Given the description of an element on the screen output the (x, y) to click on. 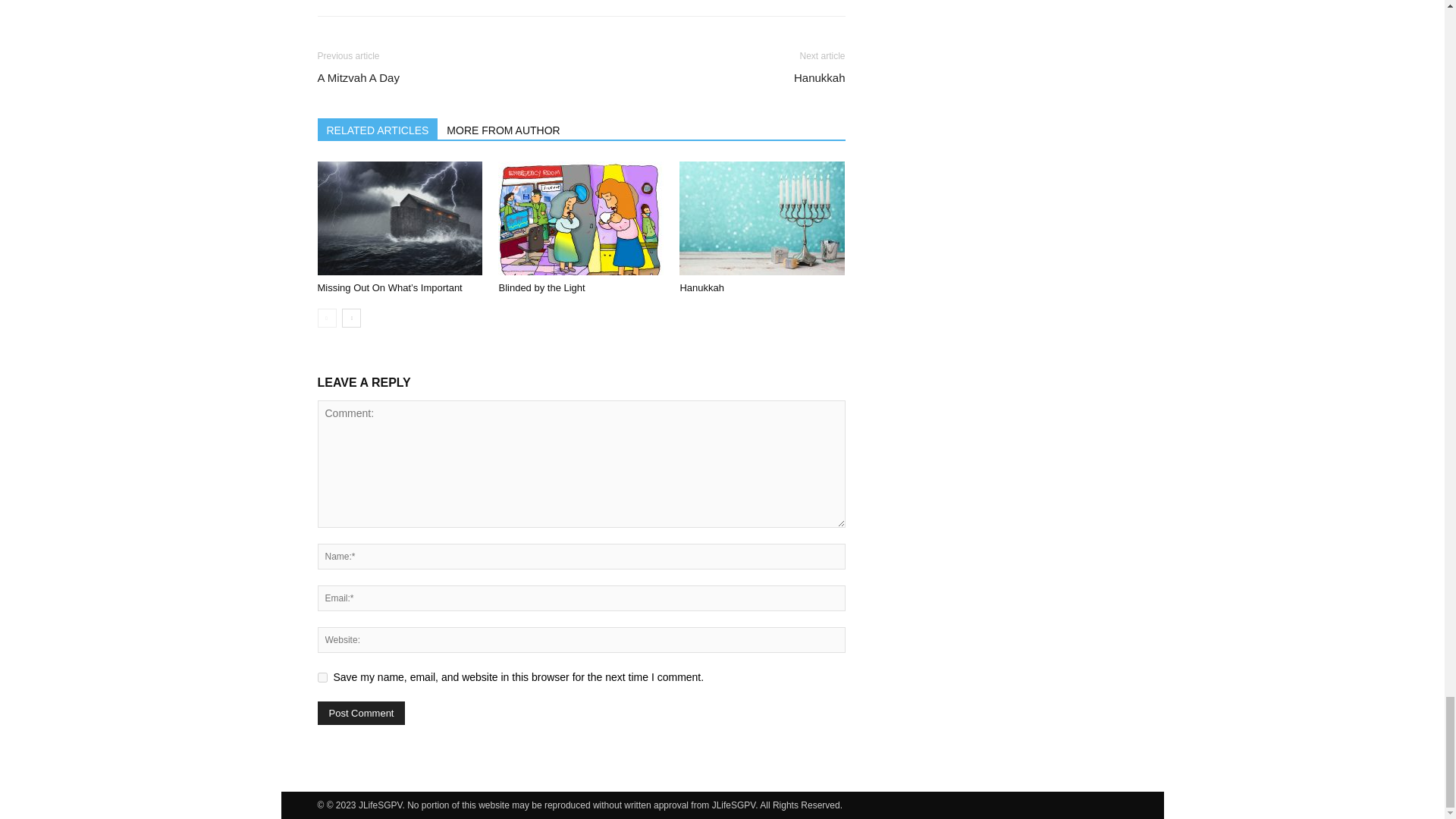
Hanukkah (701, 287)
A Mitzvah A Day (357, 77)
Hanukkah (761, 218)
Blinded by the Light (580, 218)
Blinded by the Light (541, 287)
Post Comment (360, 712)
yes (321, 677)
Hanukkah (819, 77)
